Given the description of an element on the screen output the (x, y) to click on. 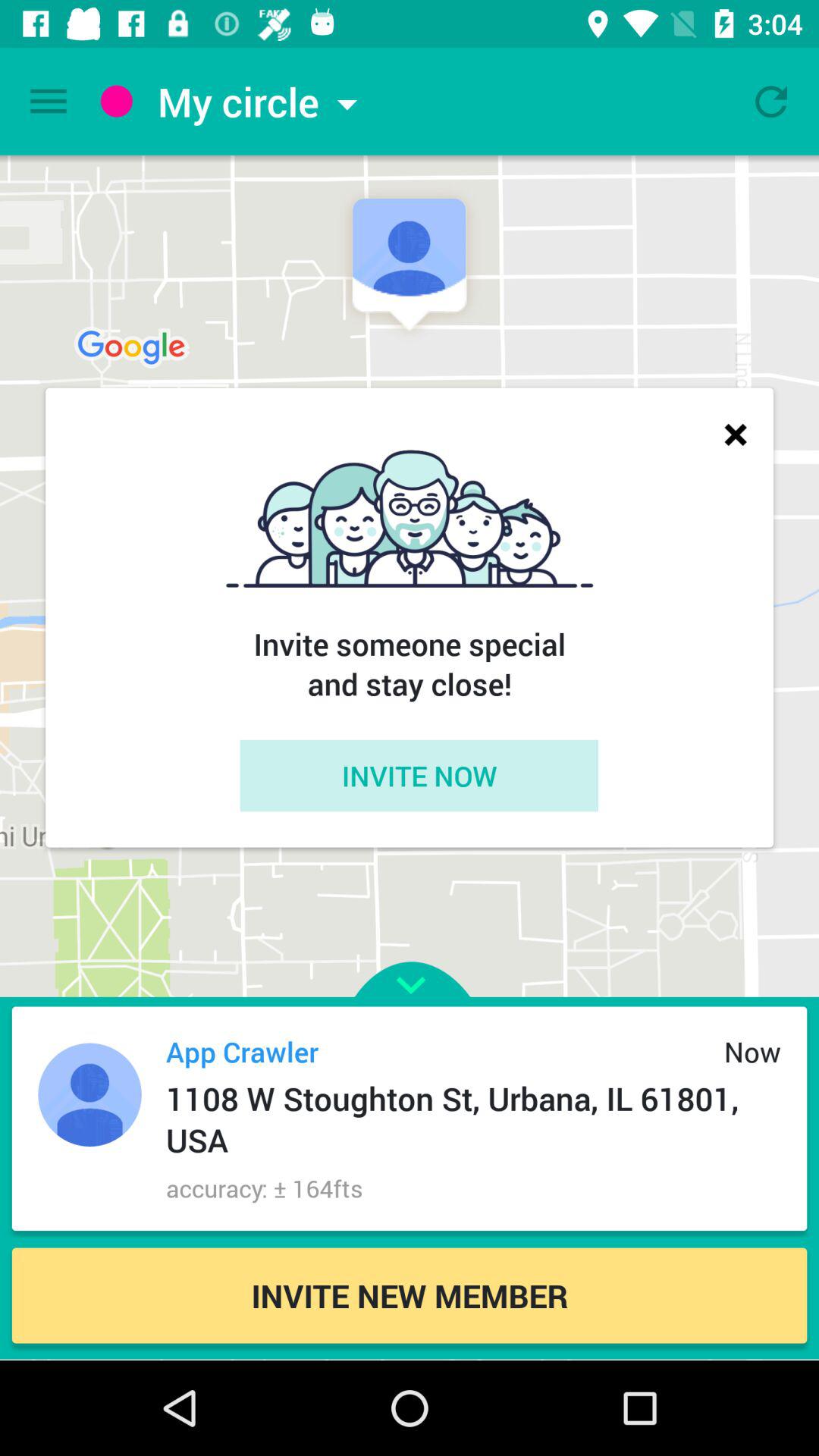
flip to invite now item (419, 775)
